Given the description of an element on the screen output the (x, y) to click on. 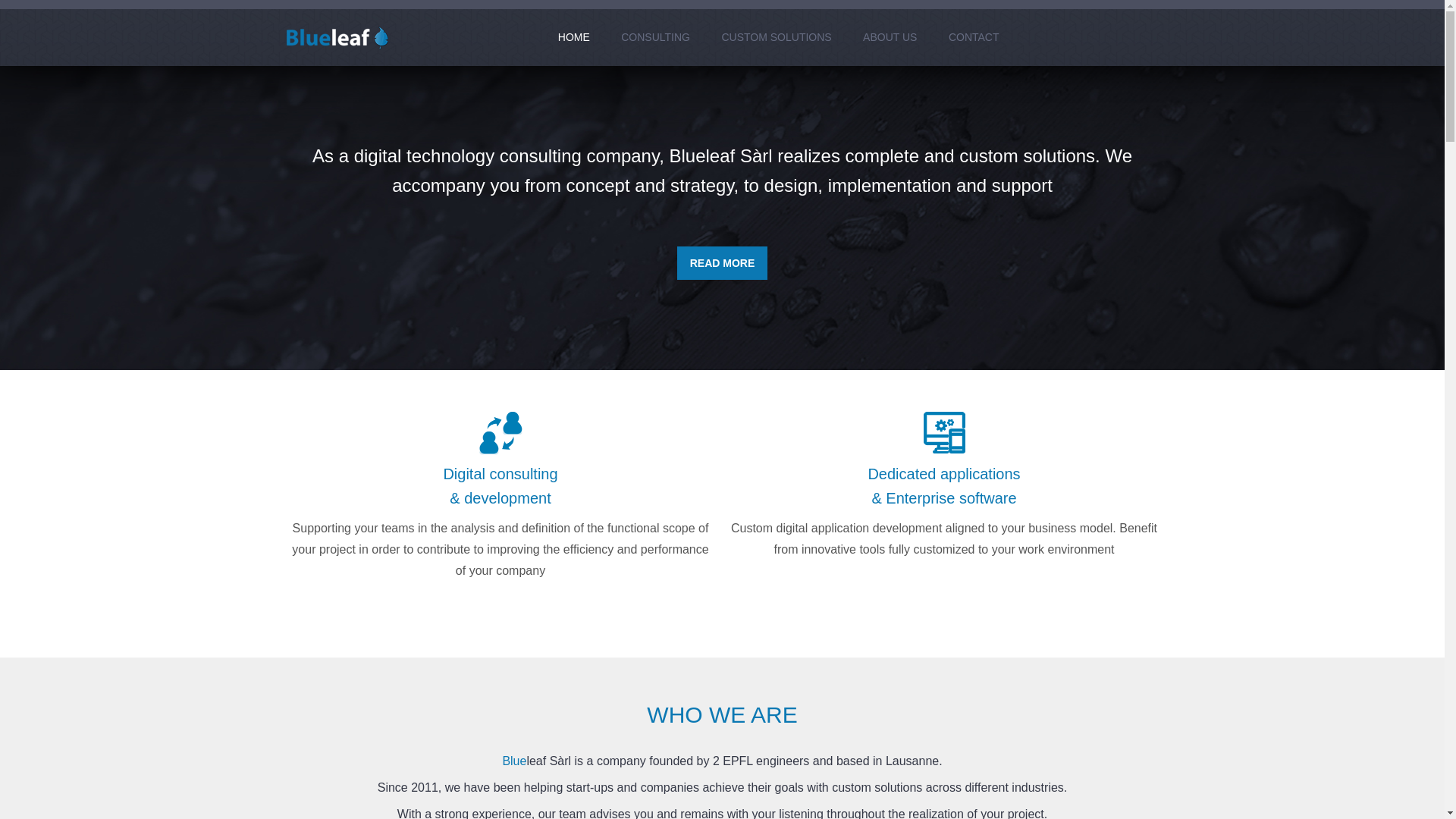
CUSTOM SOLUTIONS Element type: text (776, 36)
HOME Element type: text (573, 36)
CONTACT Element type: text (973, 36)
READ MORE Element type: text (722, 262)
CONSULTING Element type: text (655, 36)
ABOUT US Element type: text (889, 36)
